Given the description of an element on the screen output the (x, y) to click on. 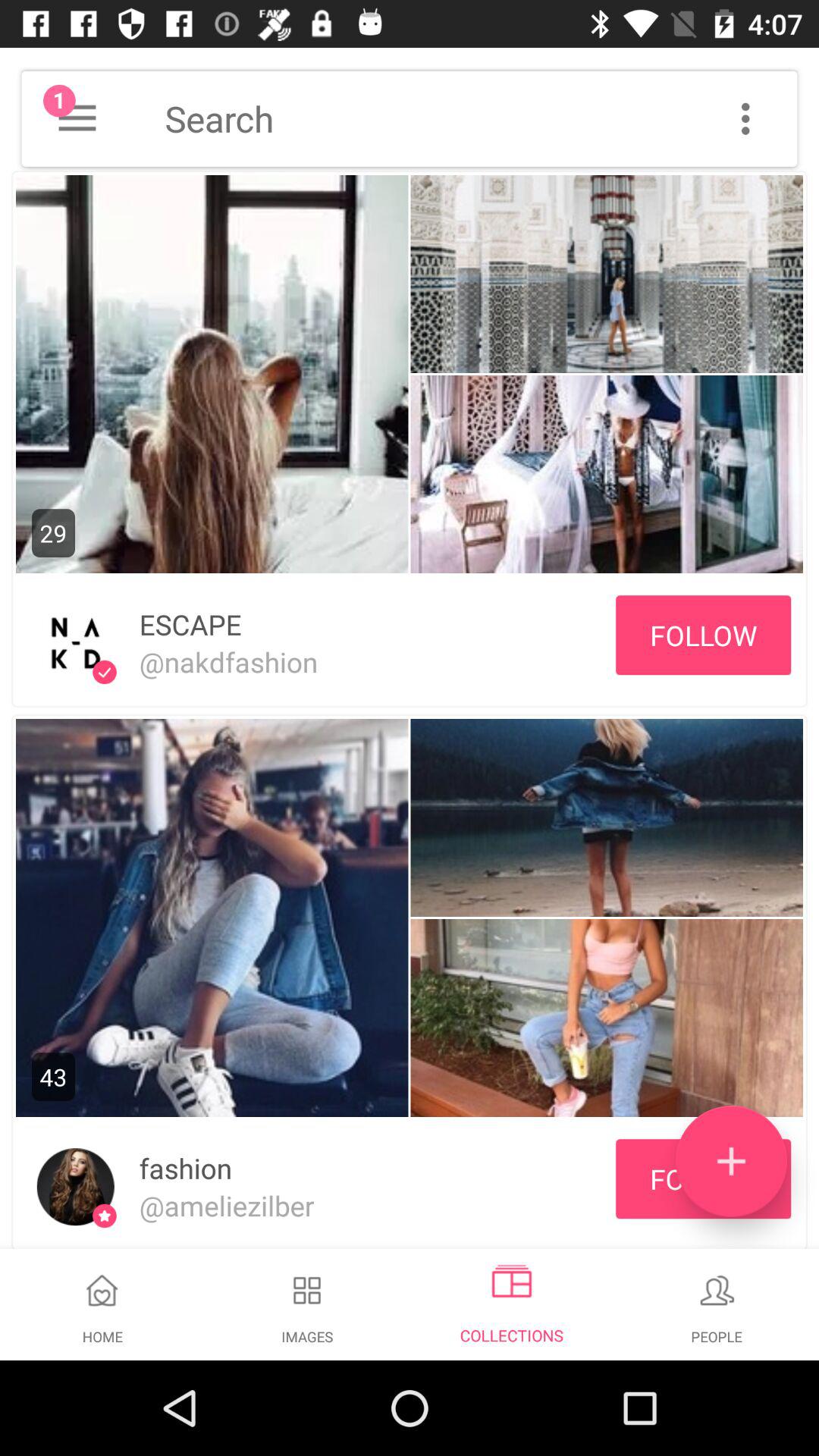
shows search box (480, 118)
